Given the description of an element on the screen output the (x, y) to click on. 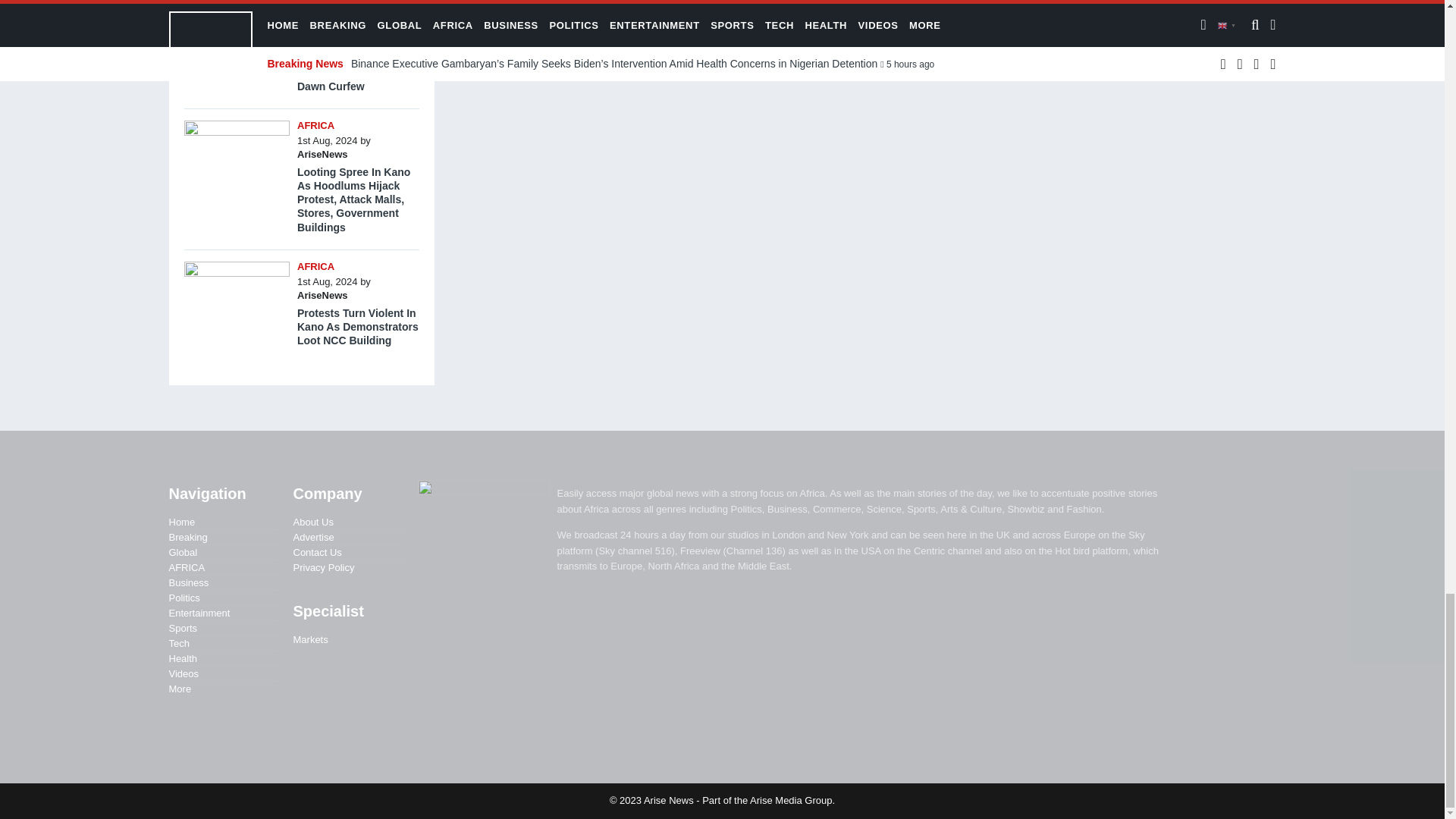
Facebook (566, 9)
Twitter (595, 9)
Youtube (678, 9)
WhatsApp (651, 9)
Instagram (622, 9)
